Given the description of an element on the screen output the (x, y) to click on. 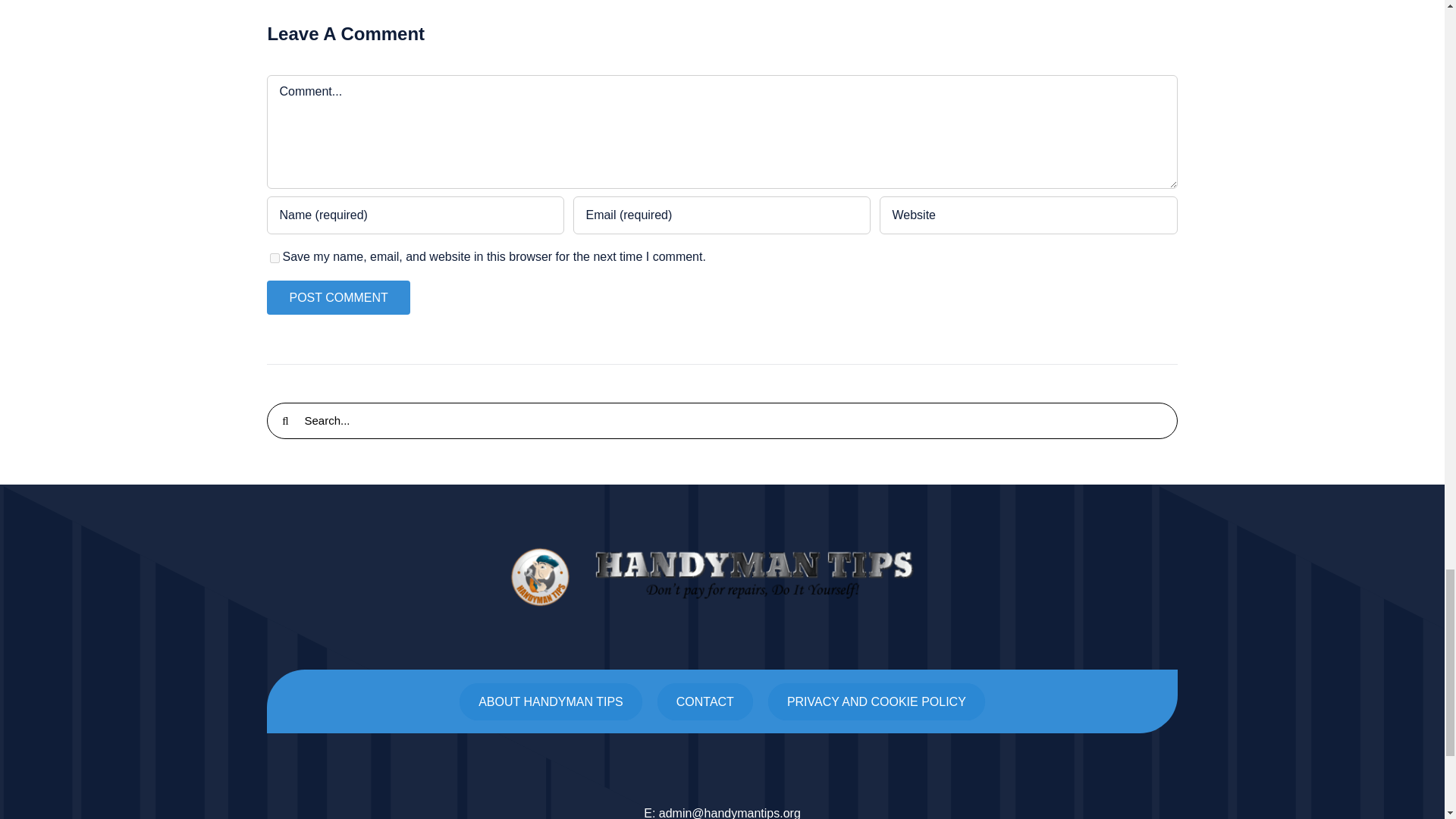
Post Comment (337, 297)
CONTACT (705, 701)
Handyman tips header new (721, 577)
Post Comment (337, 297)
ABOUT HANDYMAN TIPS (551, 701)
PRIVACY AND COOKIE POLICY (876, 701)
yes (274, 257)
